Given the description of an element on the screen output the (x, y) to click on. 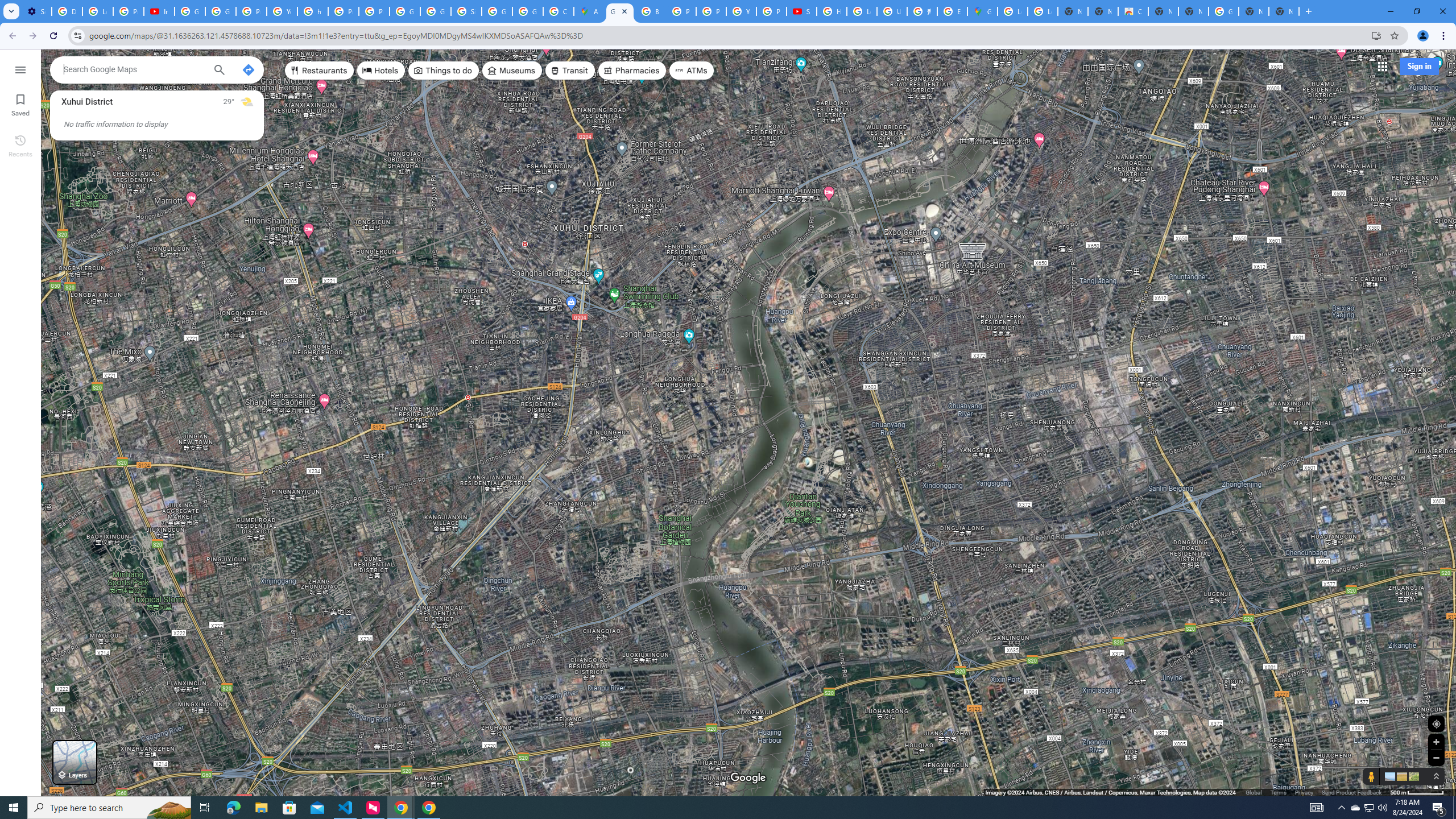
Install Google Maps (1376, 35)
500 m (1417, 792)
Google Maps (982, 11)
Museums (511, 70)
YouTube (740, 11)
Recents (20, 145)
Saved (20, 104)
New Tab (1283, 11)
